Given the description of an element on the screen output the (x, y) to click on. 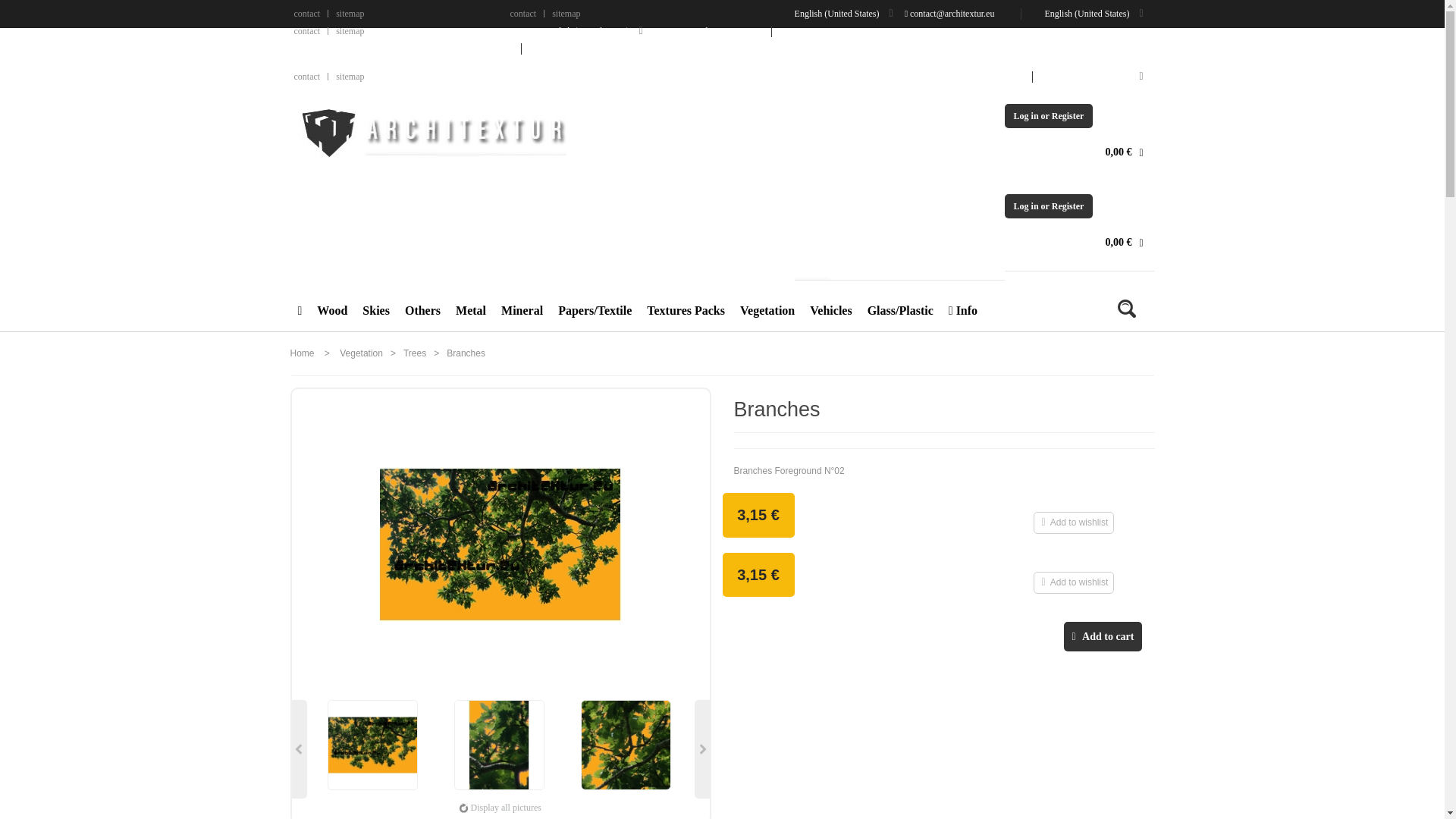
contact (522, 13)
sitemap (350, 76)
Skies (376, 308)
Log in or Register (1048, 206)
contact (307, 30)
log in or register to your account (1048, 115)
contact (307, 76)
sitemap (565, 13)
open your basket (1123, 151)
Metal (470, 308)
